Given the description of an element on the screen output the (x, y) to click on. 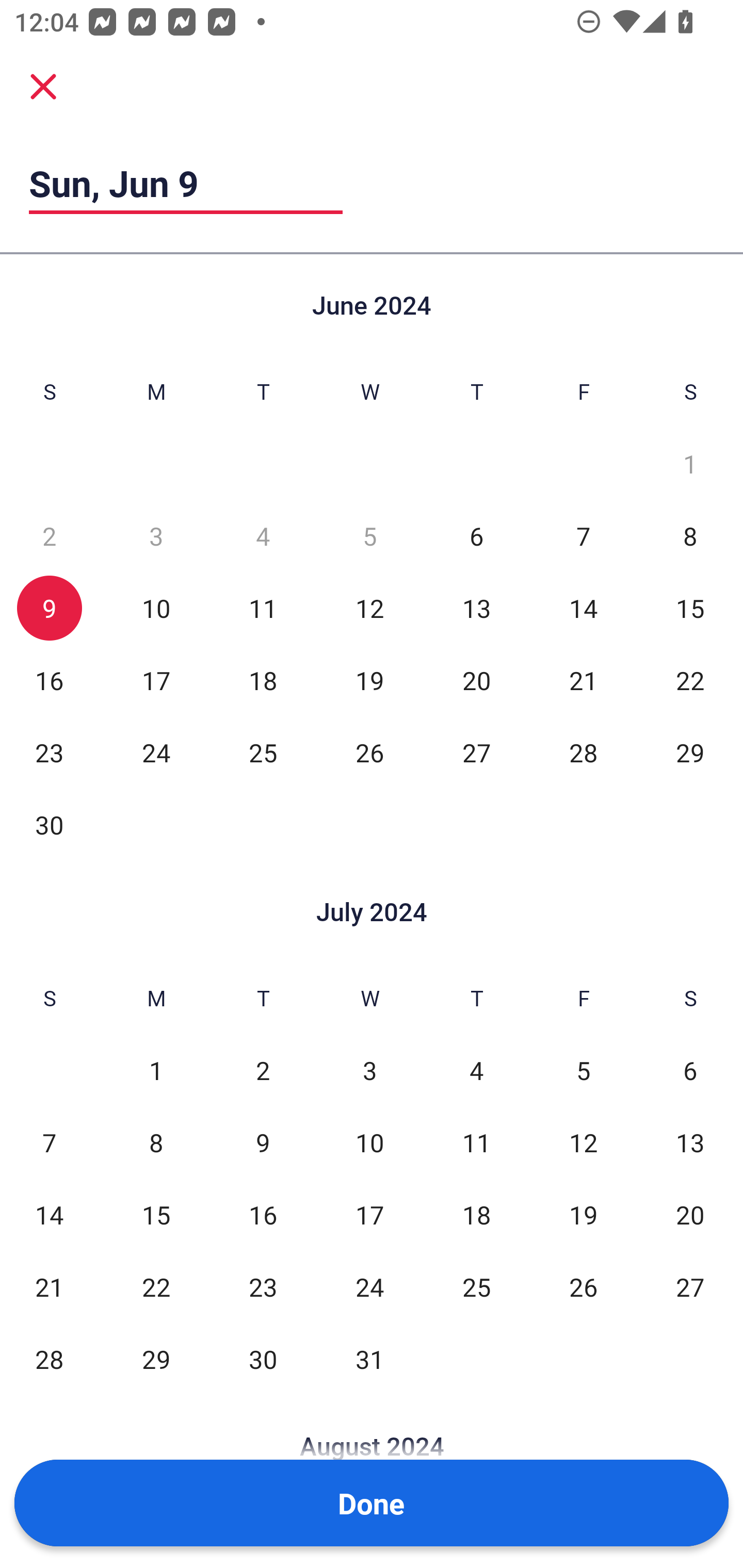
Cancel (43, 86)
Sun, Jun 9 (185, 182)
1 Sat, Jun 1, Not Selected (690, 464)
2 Sun, Jun 2, Not Selected (49, 536)
3 Mon, Jun 3, Not Selected (156, 536)
4 Tue, Jun 4, Not Selected (263, 536)
5 Wed, Jun 5, Not Selected (369, 536)
6 Thu, Jun 6, Not Selected (476, 536)
7 Fri, Jun 7, Not Selected (583, 536)
8 Sat, Jun 8, Not Selected (690, 536)
9 Sun, Jun 9, Selected (49, 608)
10 Mon, Jun 10, Not Selected (156, 608)
11 Tue, Jun 11, Not Selected (263, 608)
12 Wed, Jun 12, Not Selected (369, 608)
13 Thu, Jun 13, Not Selected (476, 608)
14 Fri, Jun 14, Not Selected (583, 608)
15 Sat, Jun 15, Not Selected (690, 608)
16 Sun, Jun 16, Not Selected (49, 680)
17 Mon, Jun 17, Not Selected (156, 680)
18 Tue, Jun 18, Not Selected (263, 680)
19 Wed, Jun 19, Not Selected (369, 680)
20 Thu, Jun 20, Not Selected (476, 680)
21 Fri, Jun 21, Not Selected (583, 680)
22 Sat, Jun 22, Not Selected (690, 680)
23 Sun, Jun 23, Not Selected (49, 752)
24 Mon, Jun 24, Not Selected (156, 752)
25 Tue, Jun 25, Not Selected (263, 752)
26 Wed, Jun 26, Not Selected (369, 752)
27 Thu, Jun 27, Not Selected (476, 752)
28 Fri, Jun 28, Not Selected (583, 752)
29 Sat, Jun 29, Not Selected (690, 752)
30 Sun, Jun 30, Not Selected (49, 824)
1 Mon, Jul 1, Not Selected (156, 1070)
2 Tue, Jul 2, Not Selected (263, 1070)
3 Wed, Jul 3, Not Selected (369, 1070)
4 Thu, Jul 4, Not Selected (476, 1070)
5 Fri, Jul 5, Not Selected (583, 1070)
6 Sat, Jul 6, Not Selected (690, 1070)
7 Sun, Jul 7, Not Selected (49, 1143)
8 Mon, Jul 8, Not Selected (156, 1143)
9 Tue, Jul 9, Not Selected (263, 1143)
10 Wed, Jul 10, Not Selected (369, 1143)
11 Thu, Jul 11, Not Selected (476, 1143)
12 Fri, Jul 12, Not Selected (583, 1143)
13 Sat, Jul 13, Not Selected (690, 1143)
14 Sun, Jul 14, Not Selected (49, 1215)
15 Mon, Jul 15, Not Selected (156, 1215)
16 Tue, Jul 16, Not Selected (263, 1215)
17 Wed, Jul 17, Not Selected (369, 1215)
18 Thu, Jul 18, Not Selected (476, 1215)
